Given the description of an element on the screen output the (x, y) to click on. 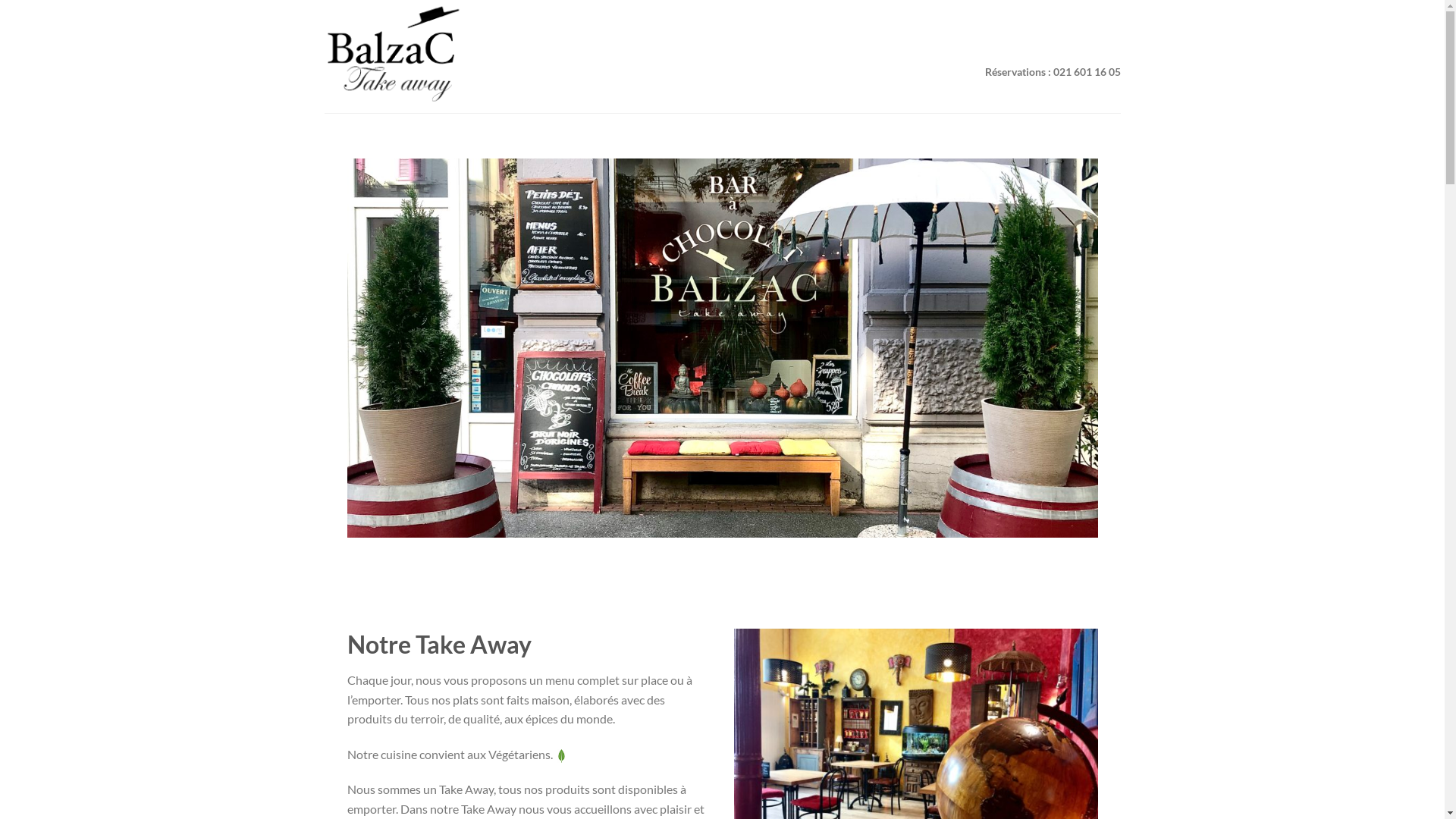
Skip to content Element type: text (0, 0)
Balzac Take Away Lausanne - Take Away Lausanne Element type: hover (438, 56)
